Given the description of an element on the screen output the (x, y) to click on. 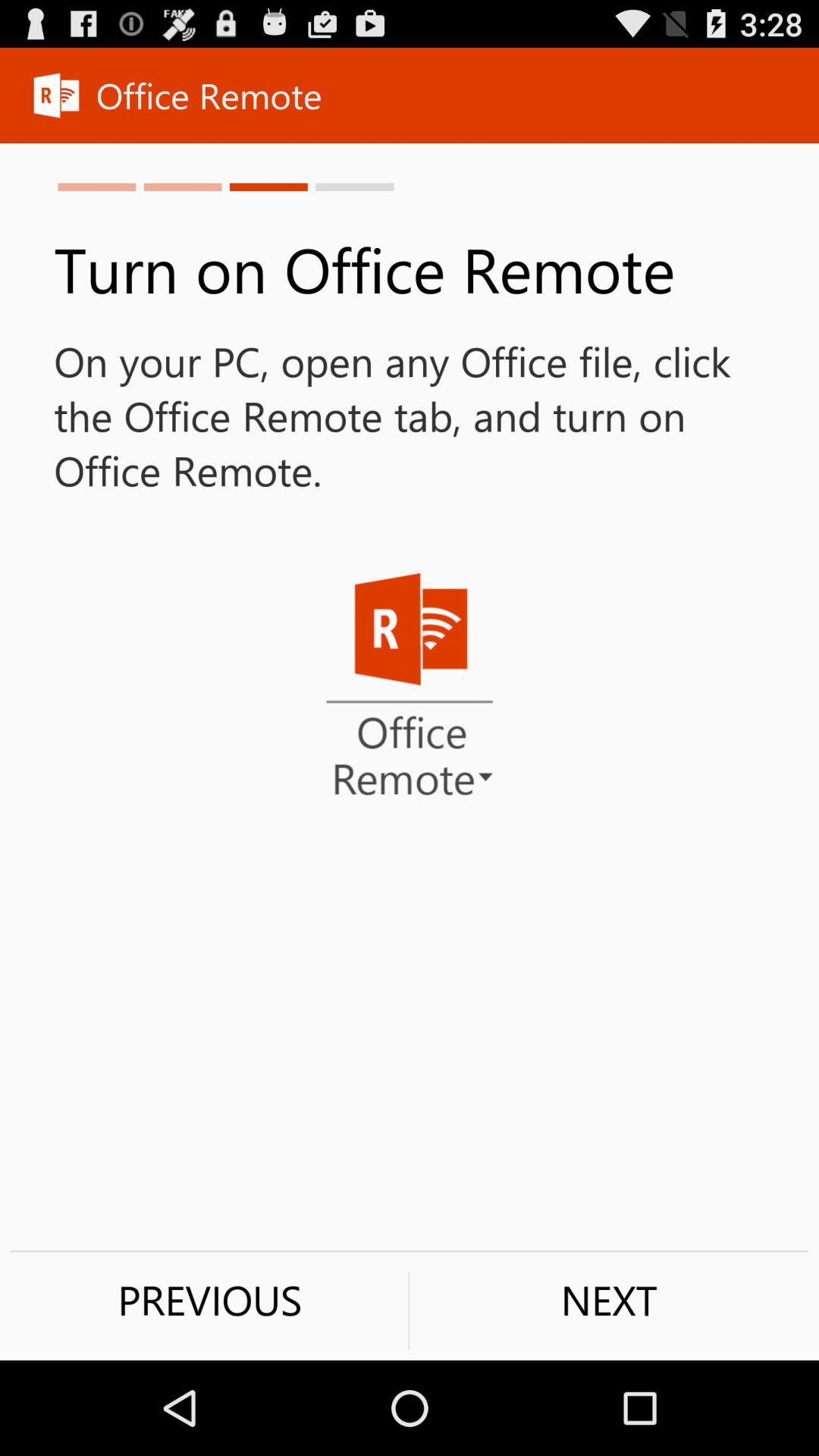
scroll to previous button (209, 1300)
